Given the description of an element on the screen output the (x, y) to click on. 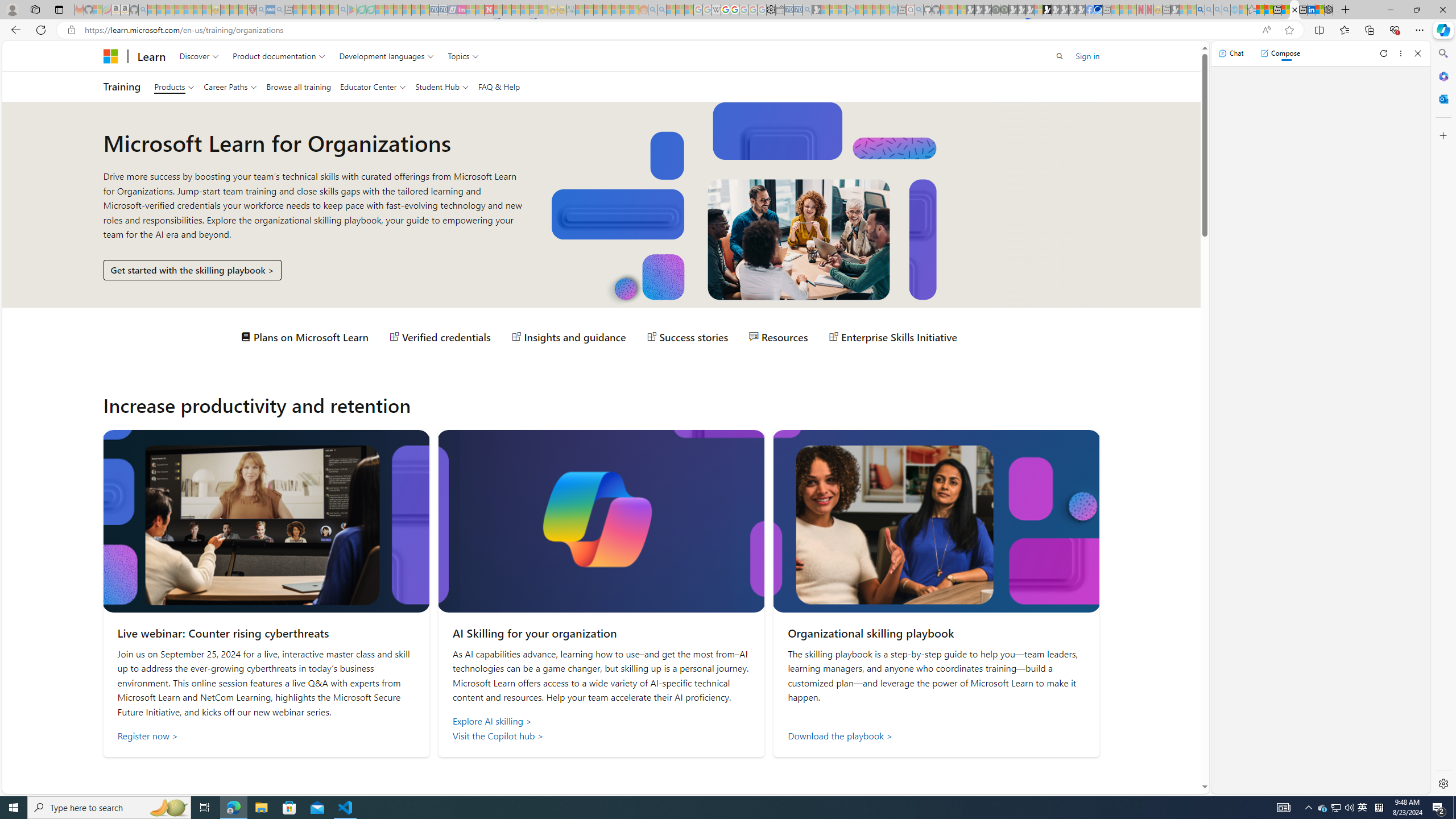
Visit the Copilot hub > (601, 735)
Student Hub (441, 86)
Cheap Hotels - Save70.com - Sleeping (442, 9)
